Given the description of an element on the screen output the (x, y) to click on. 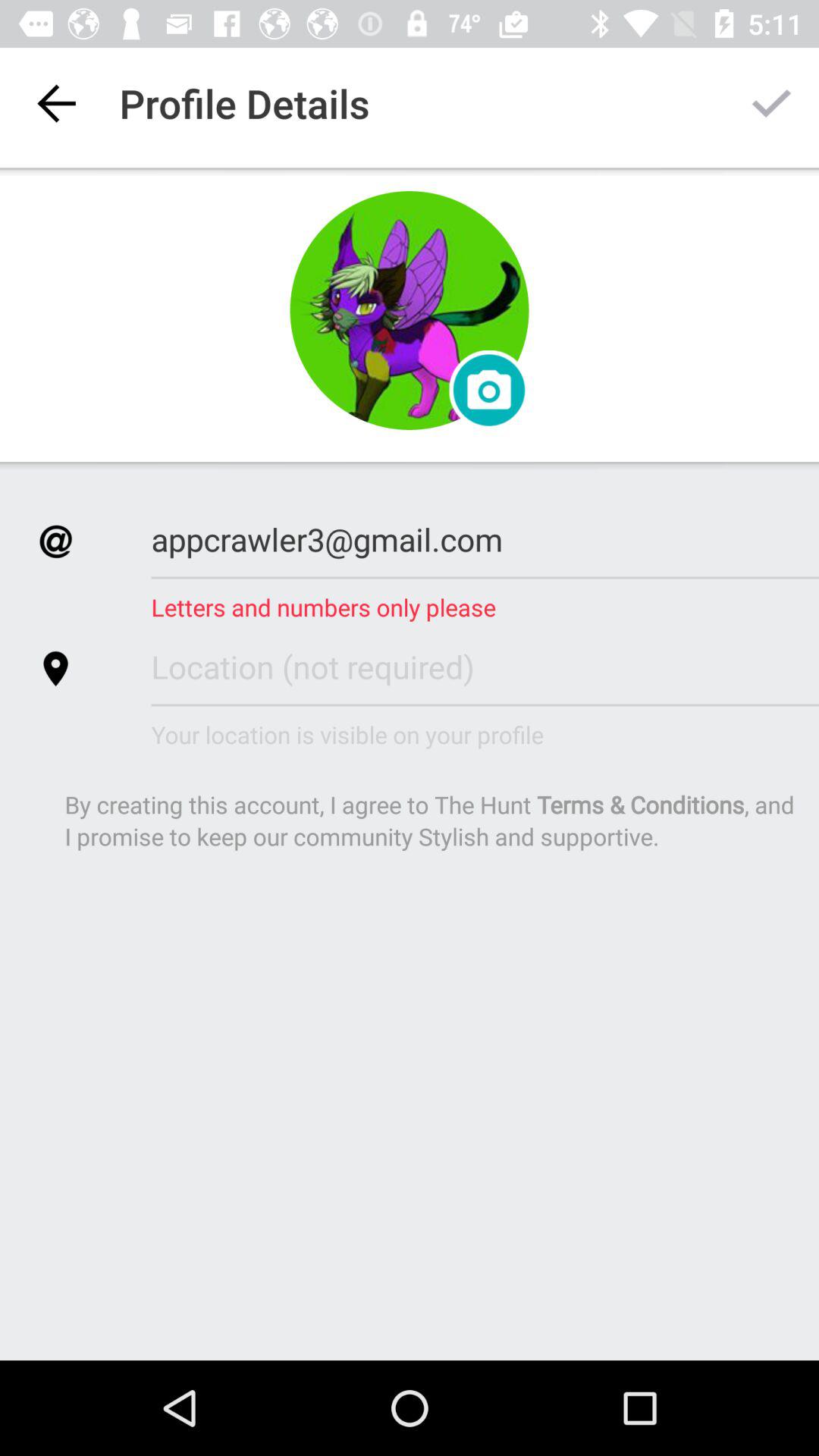
go back (55, 103)
